Given the description of an element on the screen output the (x, y) to click on. 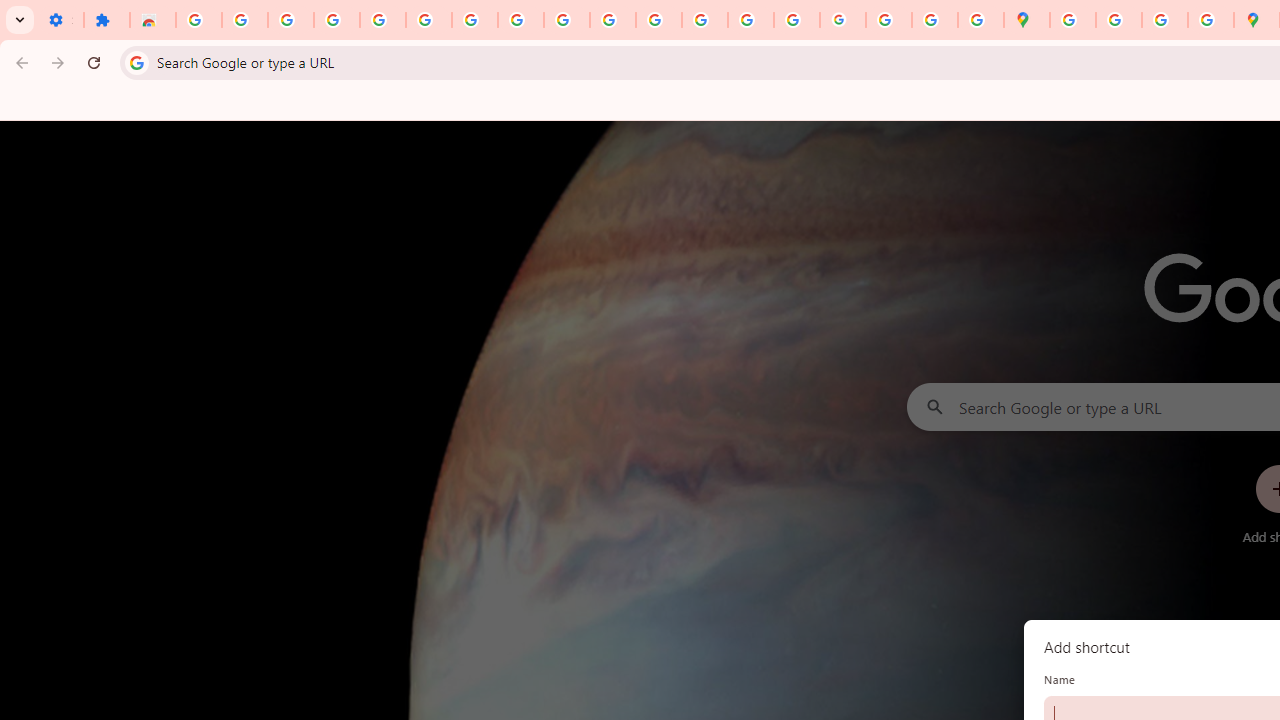
Delete photos & videos - Computer - Google Photos Help (290, 20)
Google Account (520, 20)
Extensions (107, 20)
Google Maps (1026, 20)
Learn how to find your photos - Google Photos Help (336, 20)
YouTube (567, 20)
Reviews: Helix Fruit Jump Arcade Game (153, 20)
Safety in Our Products - Google Safety Center (1210, 20)
Sign in - Google Accounts (428, 20)
